Given the description of an element on the screen output the (x, y) to click on. 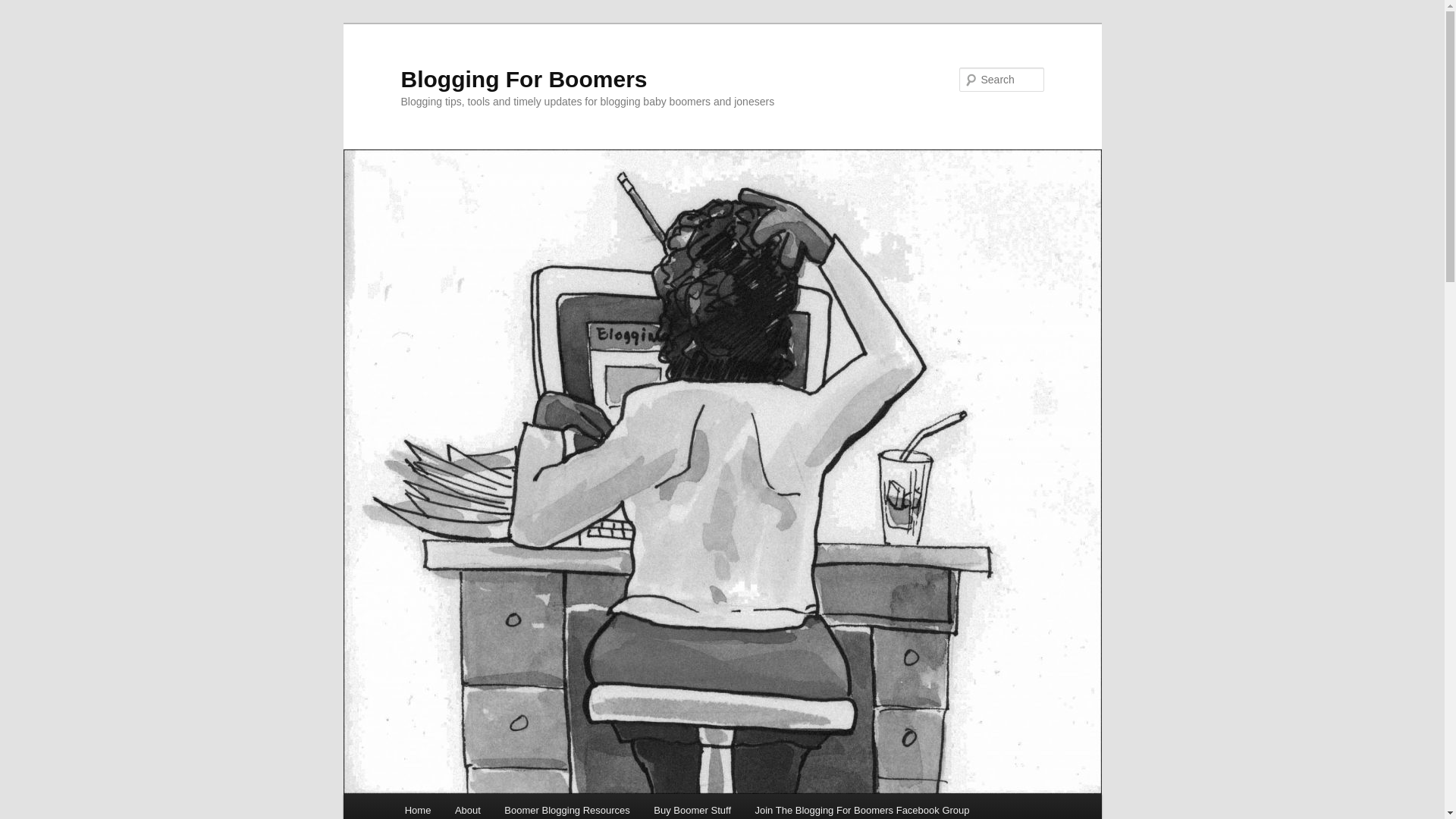
About (467, 806)
Join The Blogging For Boomers Facebook Group (861, 806)
Boomer Blogging Resources (567, 806)
Search (24, 8)
Buy Boomer Stuff (692, 806)
Home (417, 806)
Blogging For Boomers (523, 78)
